Given the description of an element on the screen output the (x, y) to click on. 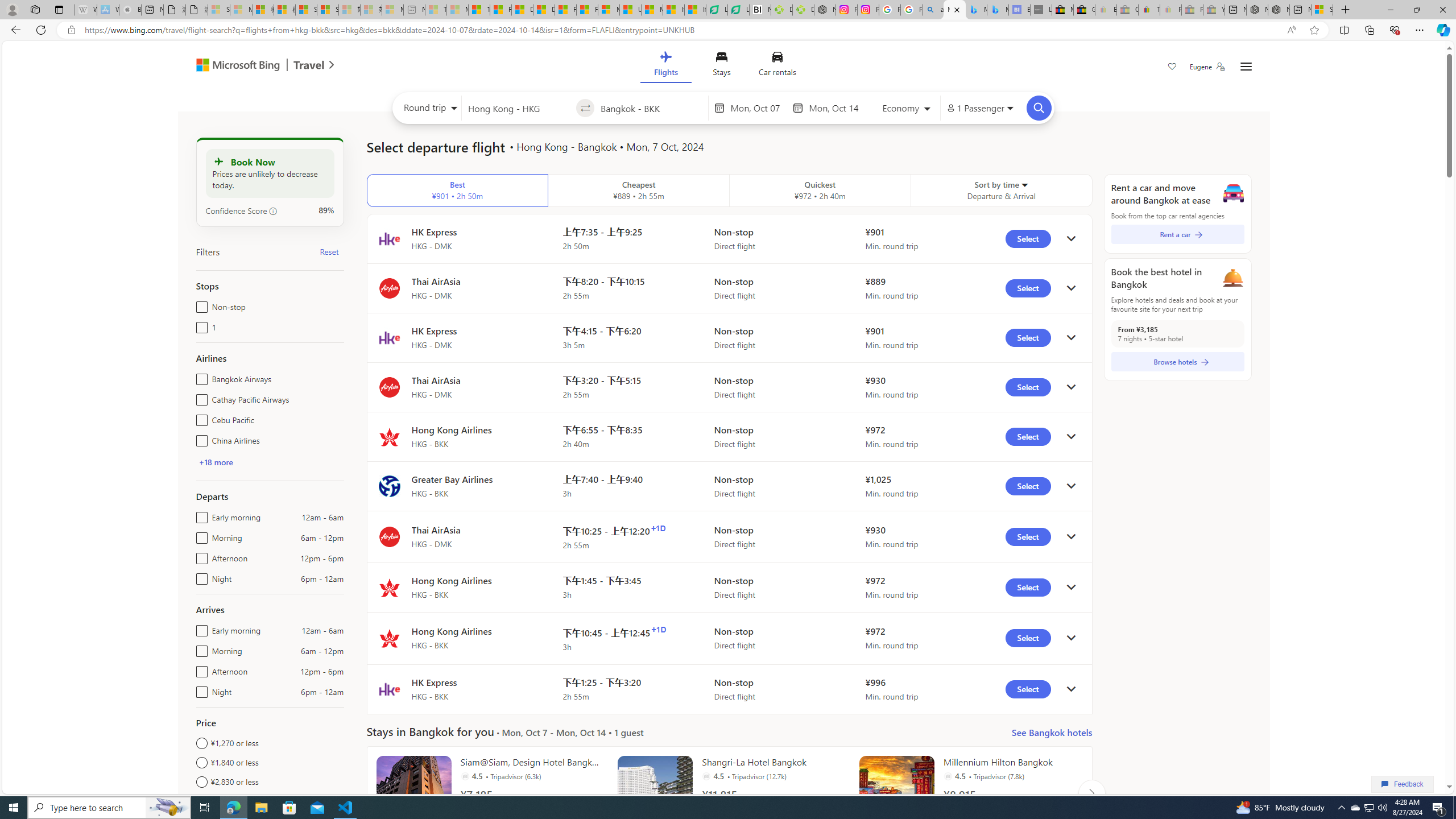
Nvidia va a poner a prueba la paciencia de los inversores (760, 9)
Top Stories - MSN - Sleeping (435, 9)
Morning6am - 12pm (199, 648)
